Given the description of an element on the screen output the (x, y) to click on. 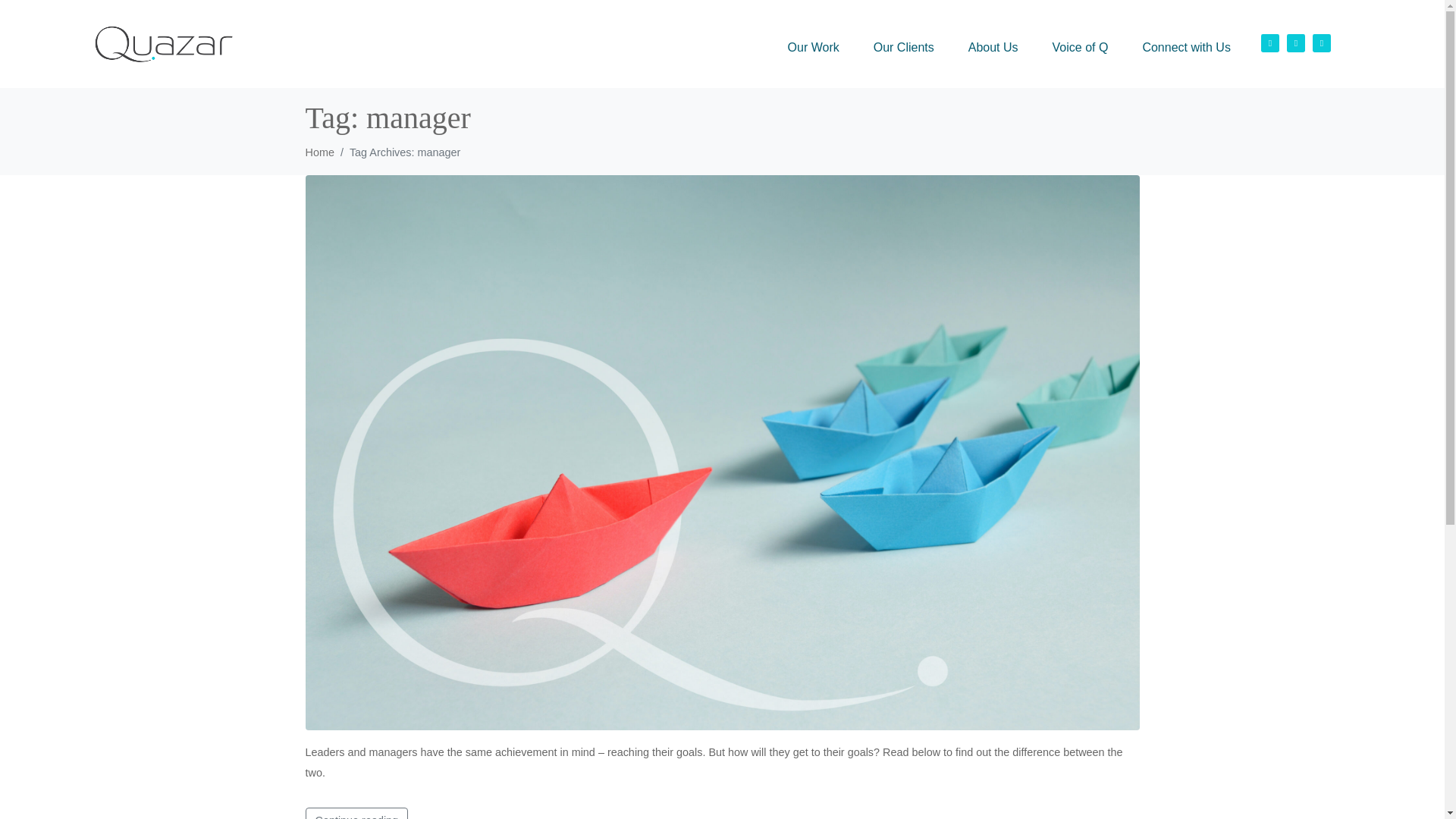
Our Work (813, 47)
Voice of Q (1080, 47)
About Us (993, 47)
Our Clients (904, 47)
Continue reading (355, 813)
Home (318, 152)
Connect with Us (1186, 47)
